Given the description of an element on the screen output the (x, y) to click on. 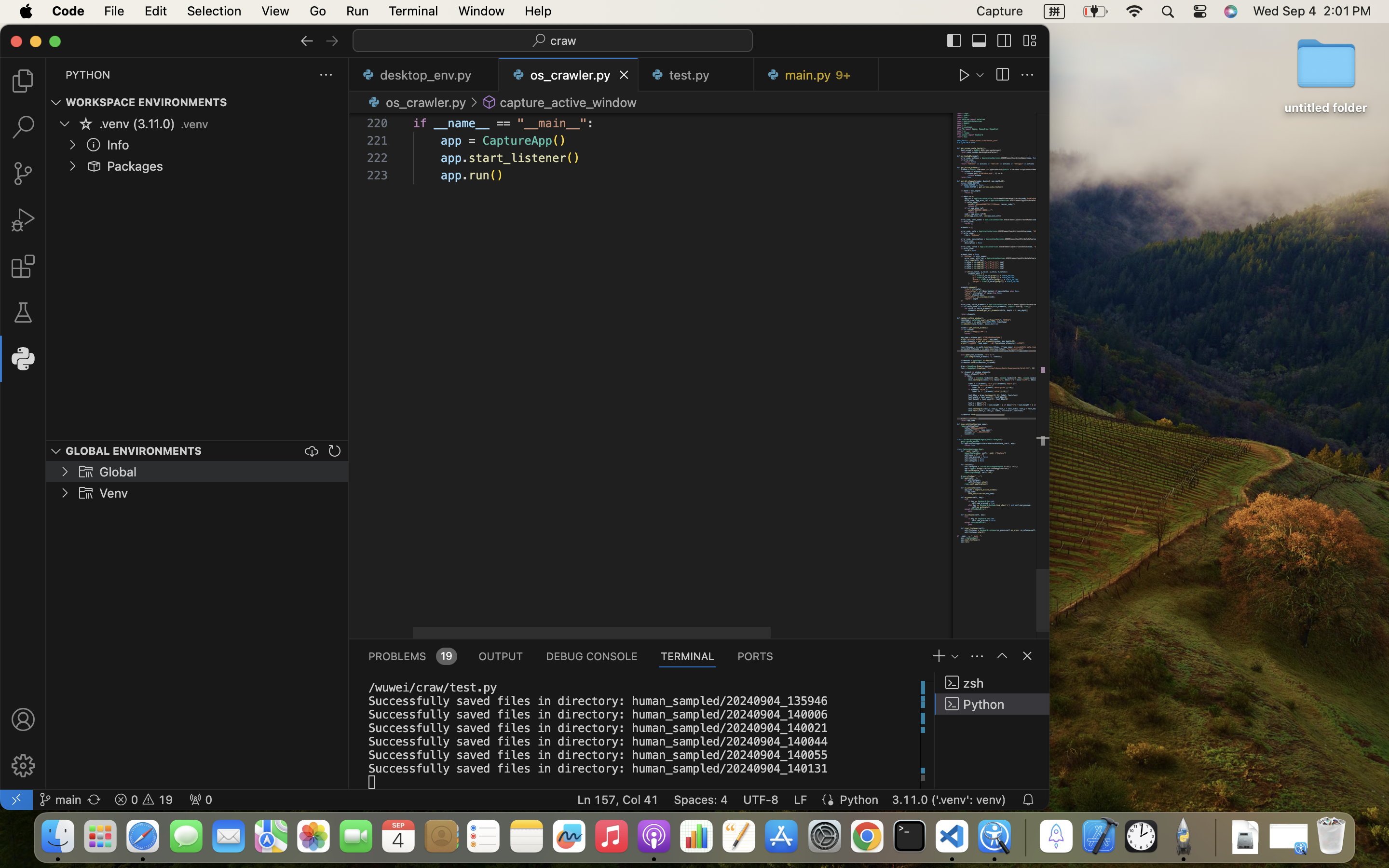
Packages Element type: AXStaticText (135, 166)
 Element type: AXStaticText (93, 165)
 Element type: AXCheckBox (1003, 40)
GLOBAL ENVIRONMENTS Element type: AXStaticText (133, 450)
Info Element type: AXStaticText (118, 144)
